Given the description of an element on the screen output the (x, y) to click on. 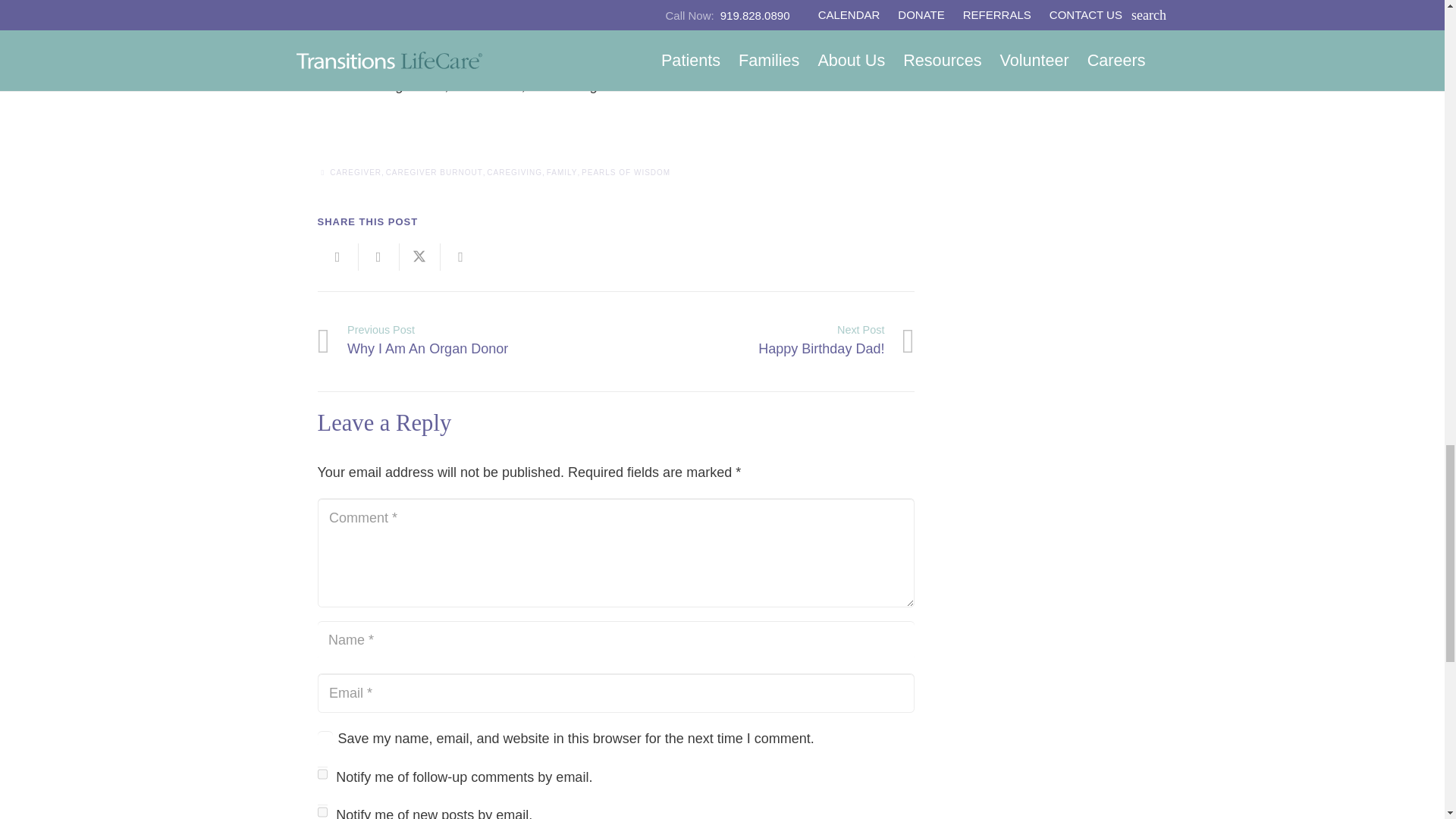
Happy Birthday Dad! (764, 340)
Tweet this (418, 257)
Share this (378, 257)
Why I Am An Organ Donor (466, 340)
subscribe (321, 811)
subscribe (321, 774)
Share this (459, 257)
1 (324, 738)
Email this (337, 257)
